Given the description of an element on the screen output the (x, y) to click on. 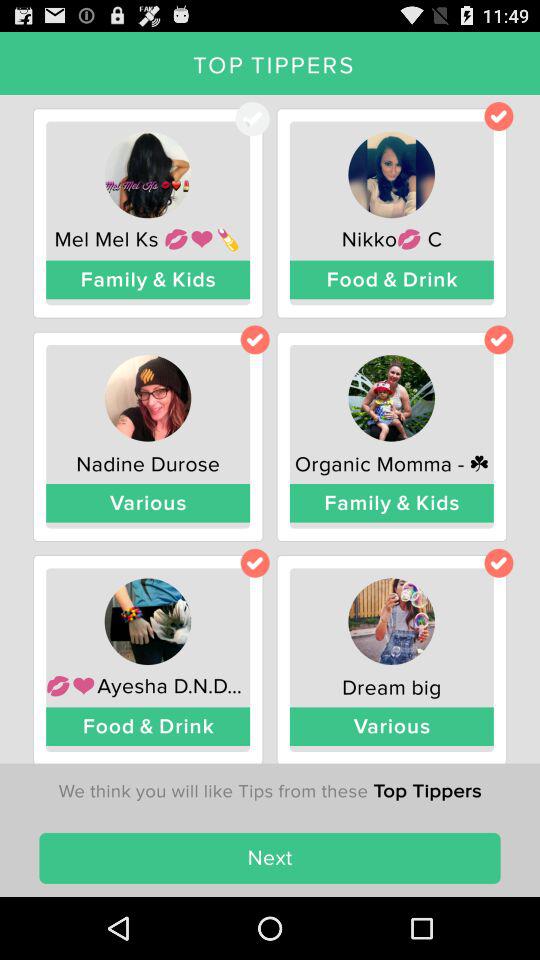
turn on the next icon (269, 857)
